Given the description of an element on the screen output the (x, y) to click on. 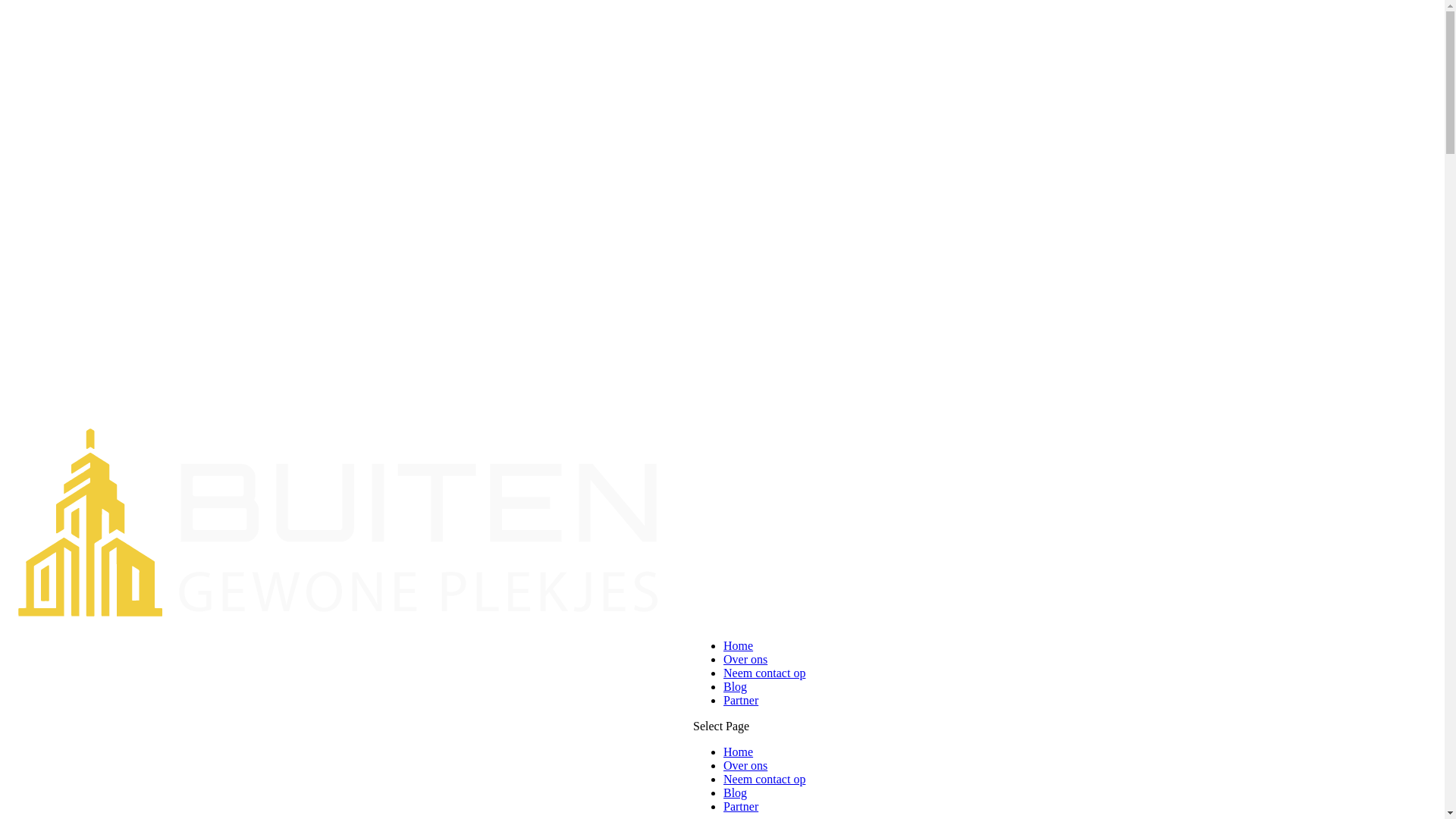
Home Element type: text (738, 751)
Blog Element type: text (734, 792)
Partner Element type: text (740, 806)
Partner Element type: text (740, 699)
Home Element type: text (738, 645)
Over ons Element type: text (745, 765)
Blog Element type: text (734, 686)
Neem contact op Element type: text (764, 778)
Neem contact op Element type: text (764, 672)
Over ons Element type: text (745, 658)
